Given the description of an element on the screen output the (x, y) to click on. 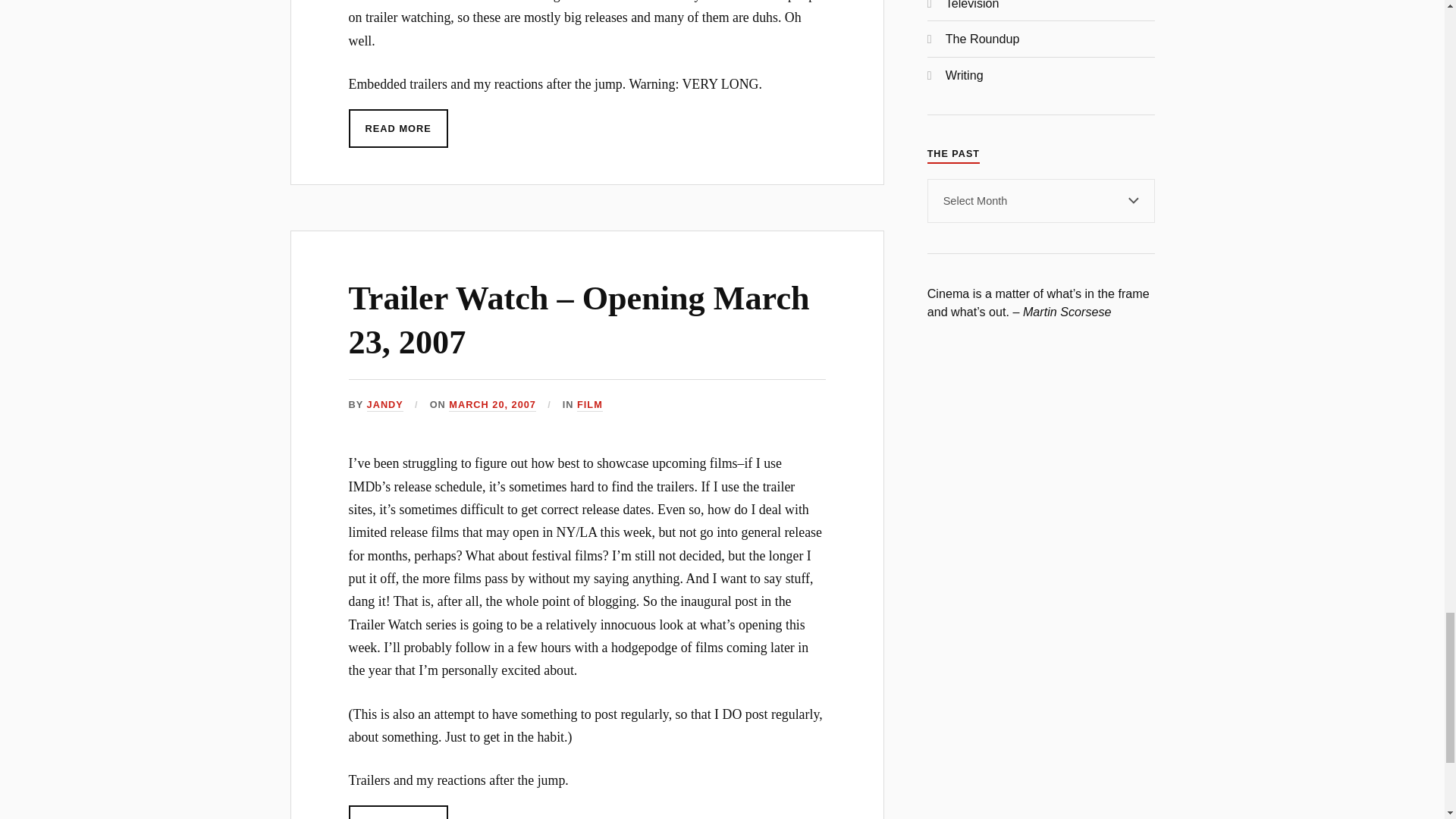
Posts by Jandy (384, 404)
